Given the description of an element on the screen output the (x, y) to click on. 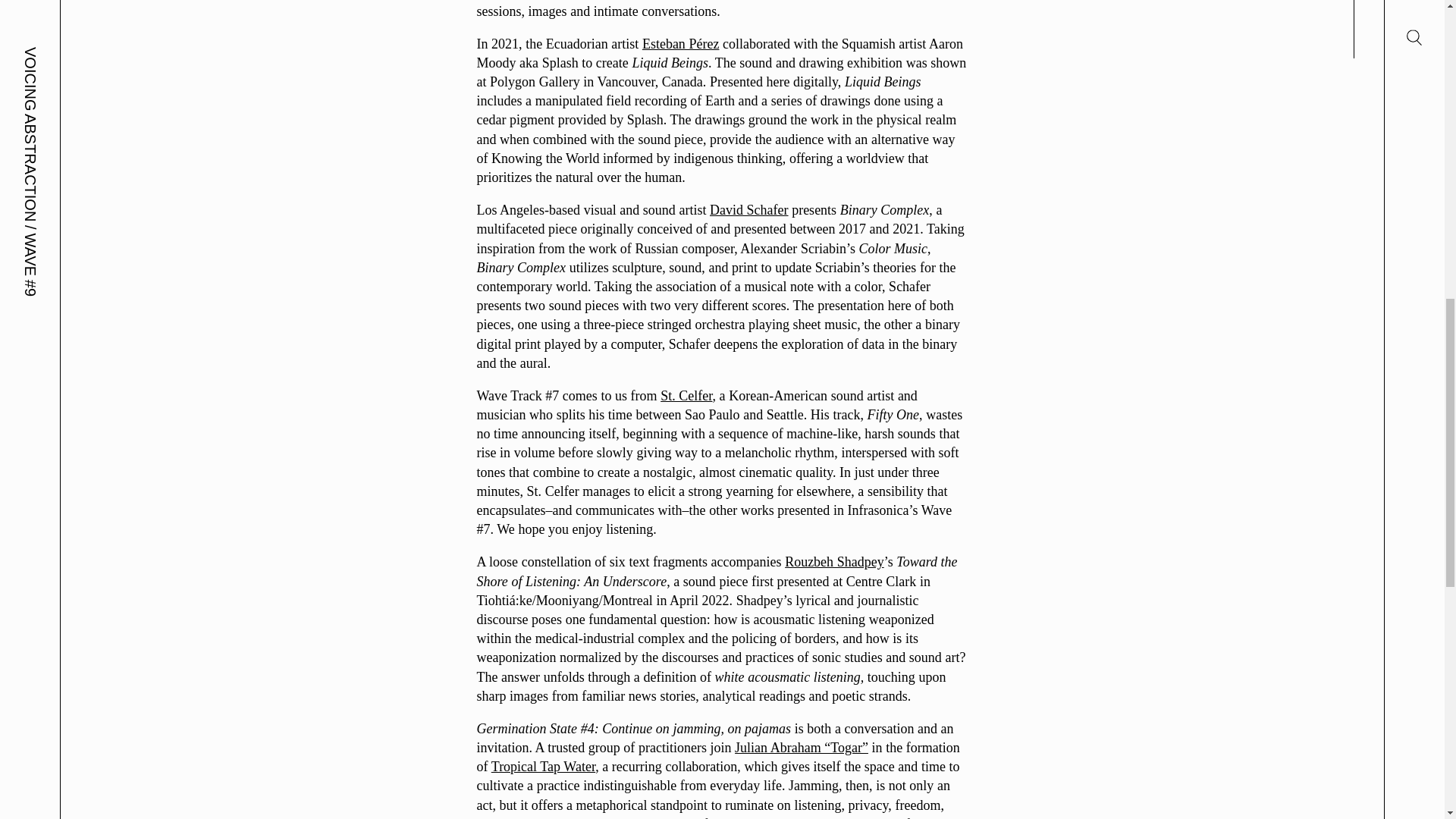
Rouzbeh Shadpey (833, 561)
David Schafer (749, 209)
Tropical Tap Water (543, 766)
